Given the description of an element on the screen output the (x, y) to click on. 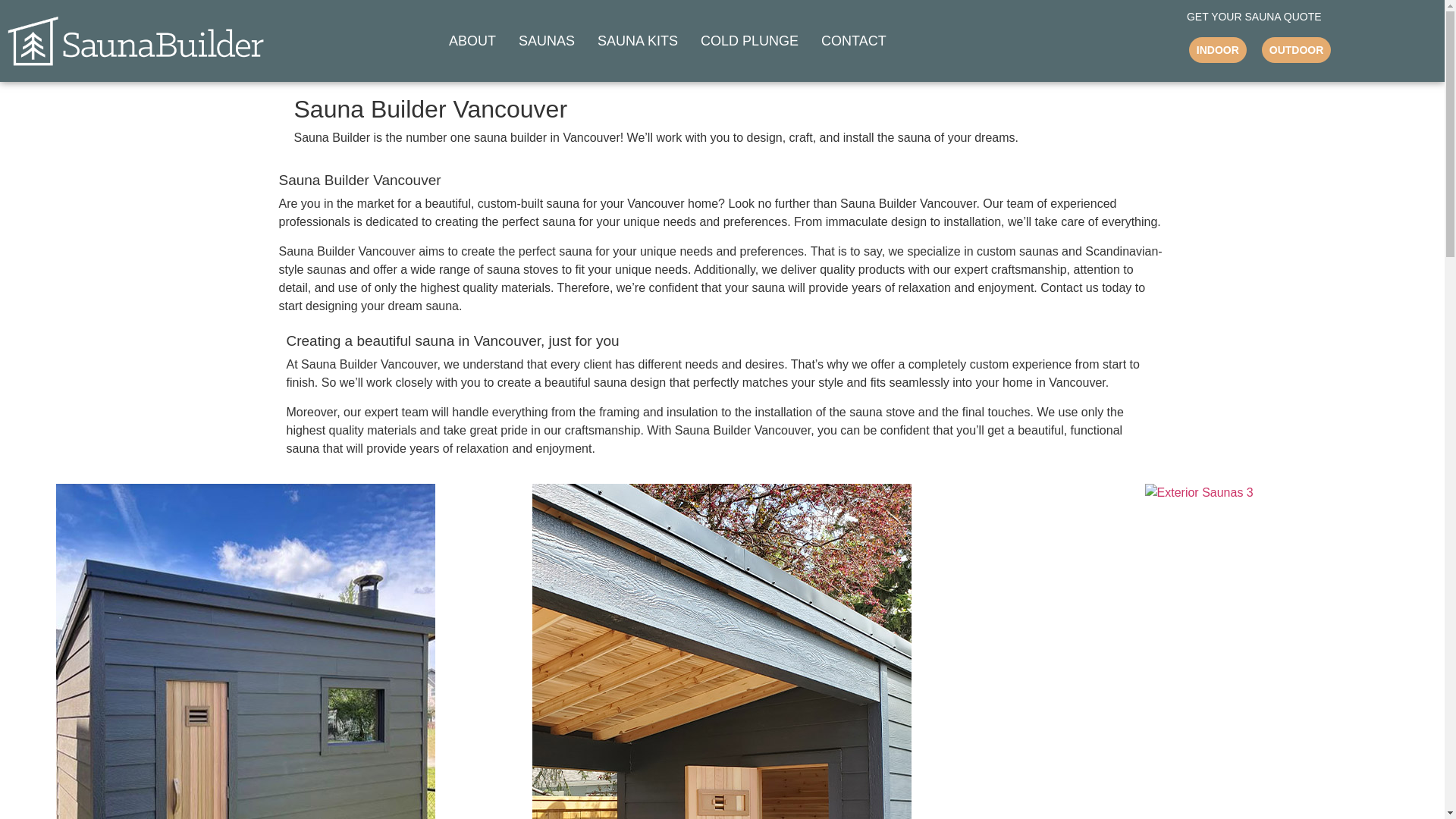
ABOUT (472, 40)
INDOOR (1217, 49)
CONTACT (853, 40)
OUTDOOR (1297, 49)
SAUNAS (546, 40)
SAUNA KITS (637, 40)
COLD PLUNGE (748, 40)
